Given the description of an element on the screen output the (x, y) to click on. 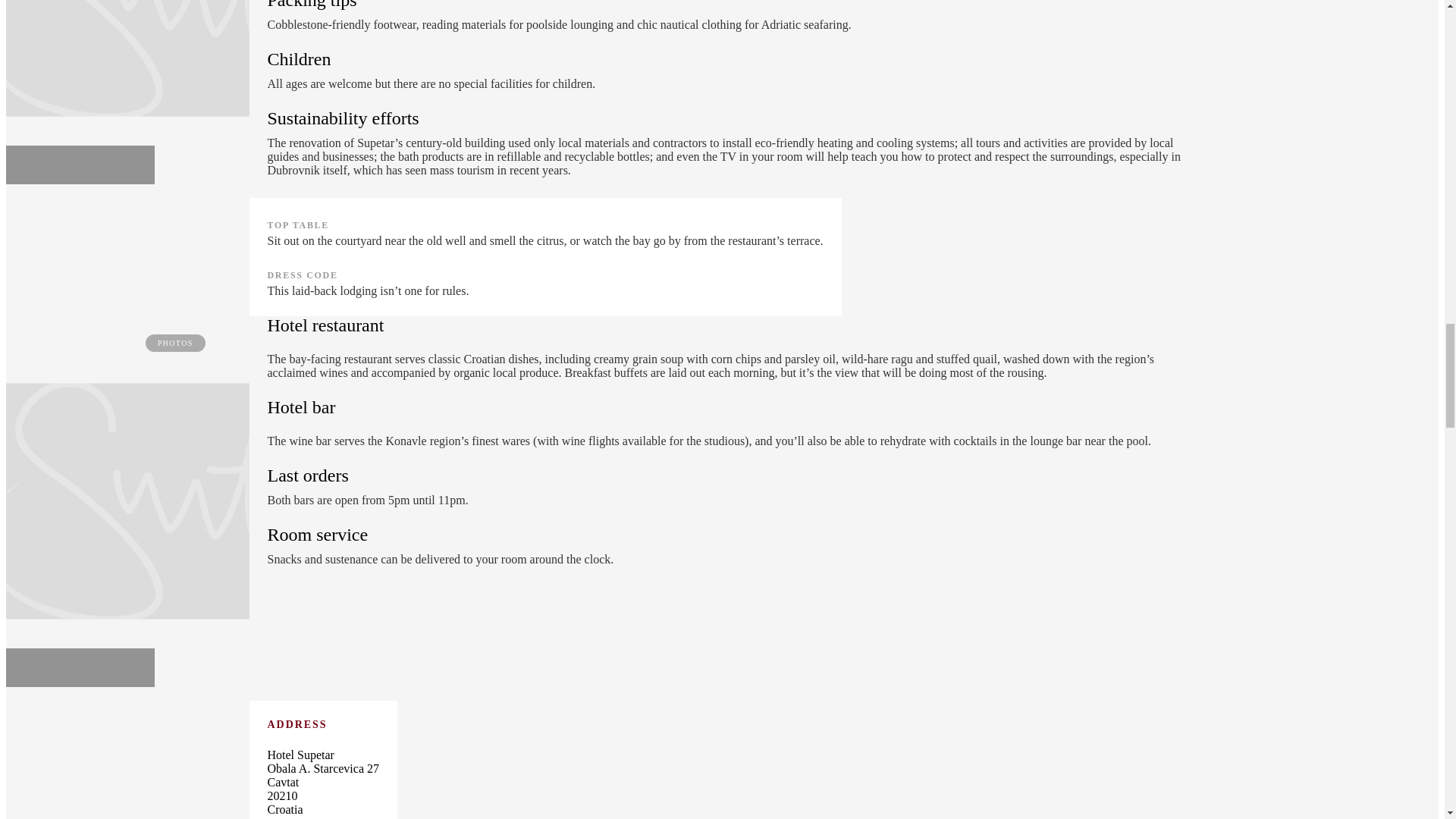
Hotel Supetar (182, 58)
Hotel Supetar (182, 501)
PHOTOS (126, 92)
